Given the description of an element on the screen output the (x, y) to click on. 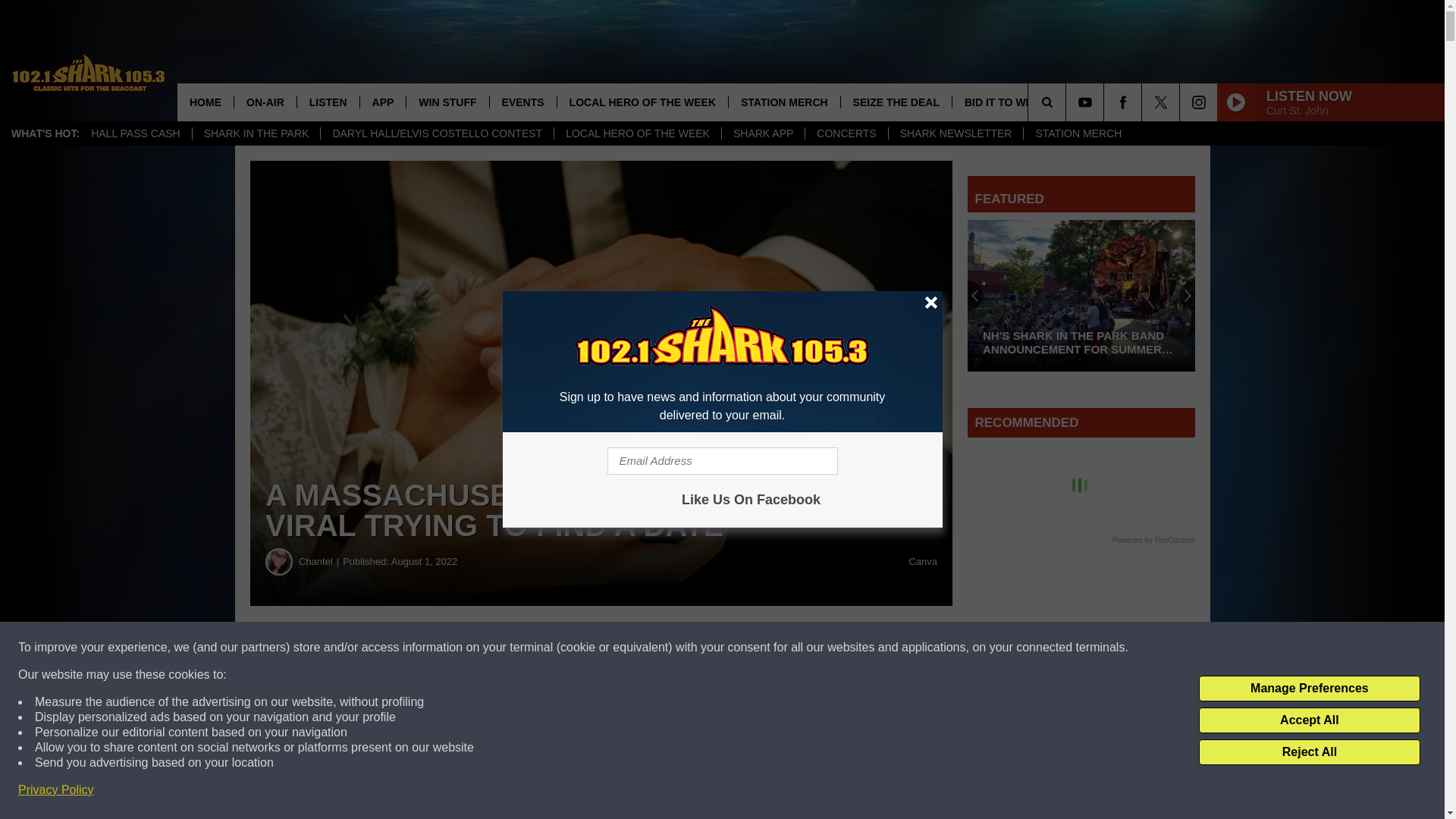
SHARK NEWSLETTER (955, 133)
Email Address (722, 461)
SEARCH (1068, 102)
LOCAL HERO OF THE WEEK (636, 133)
WIN STUFF (446, 102)
Share on Facebook (460, 647)
Share on Twitter (741, 647)
HALL PASS CASH (136, 133)
Privacy Policy (55, 789)
Accept All (1309, 720)
SHARK APP (762, 133)
ON-AIR (264, 102)
EVENTS (522, 102)
Reject All (1309, 751)
SHARK IN THE PARK (256, 133)
